Given the description of an element on the screen output the (x, y) to click on. 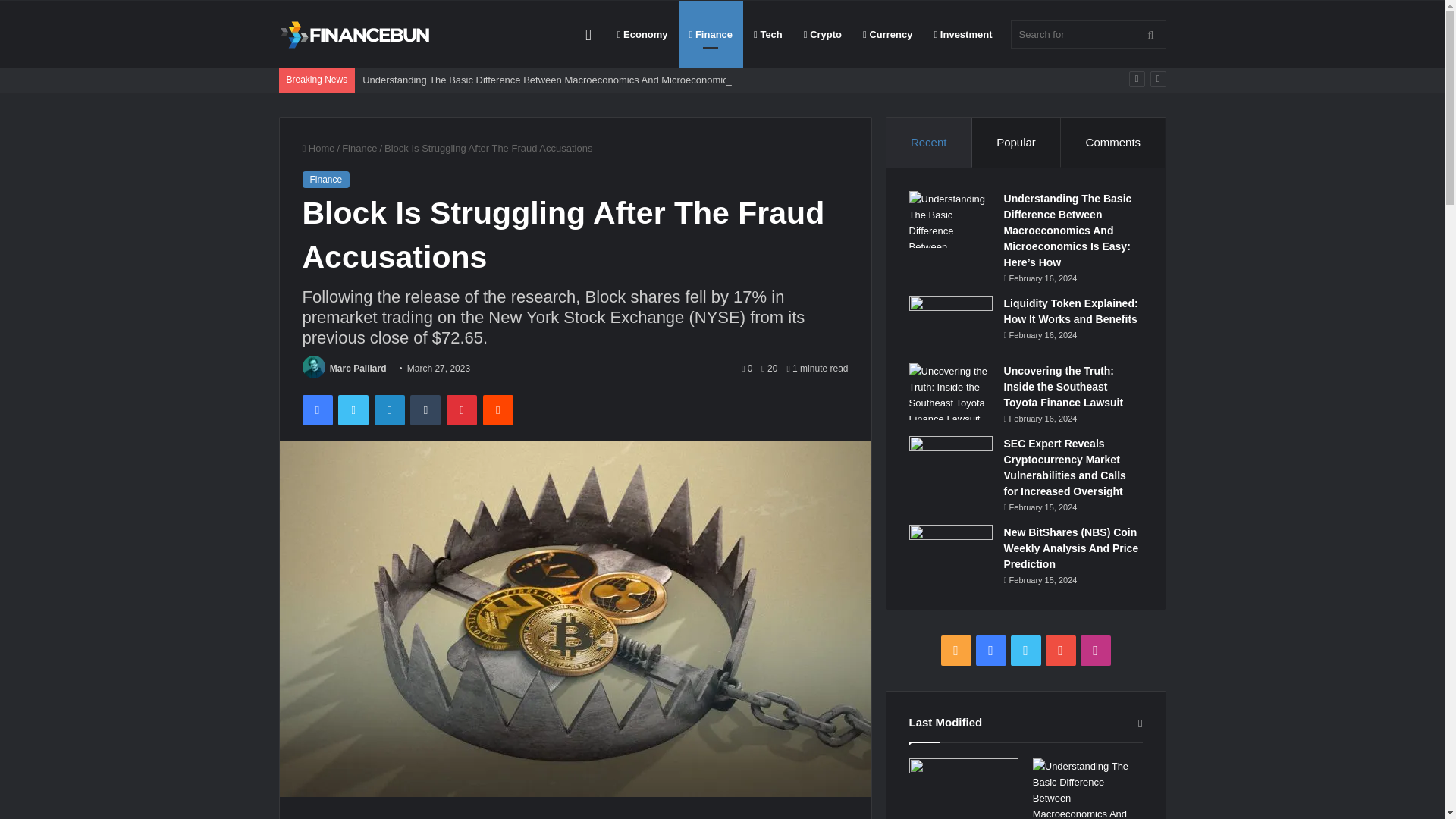
Pinterest (461, 409)
Twitter (352, 409)
Finance (359, 147)
Home (317, 147)
Search for (1088, 34)
Finance (711, 33)
Pinterest (461, 409)
Economy (642, 33)
Investment (963, 33)
Marc Paillard (358, 368)
LinkedIn (389, 409)
LinkedIn (389, 409)
Facebook (316, 409)
Marc Paillard (358, 368)
